Given the description of an element on the screen output the (x, y) to click on. 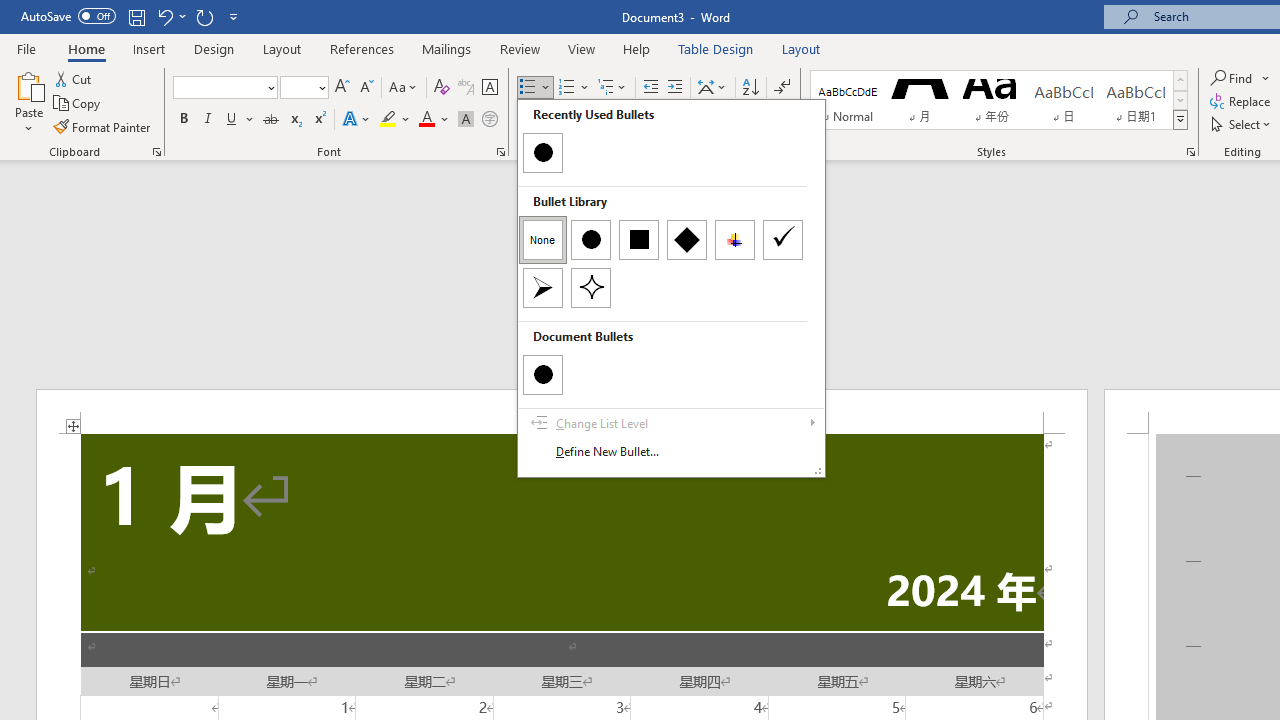
Underline (232, 119)
File Tab (26, 48)
Strikethrough (270, 119)
Show/Hide Editing Marks (781, 87)
Asian Layout (712, 87)
Styles... (1190, 151)
Quick Access Toolbar (131, 16)
Paste (28, 84)
&Bullets (671, 288)
Font Size (304, 87)
Table Design (715, 48)
Superscript (319, 119)
Underline (239, 119)
Bold (183, 119)
